Given the description of an element on the screen output the (x, y) to click on. 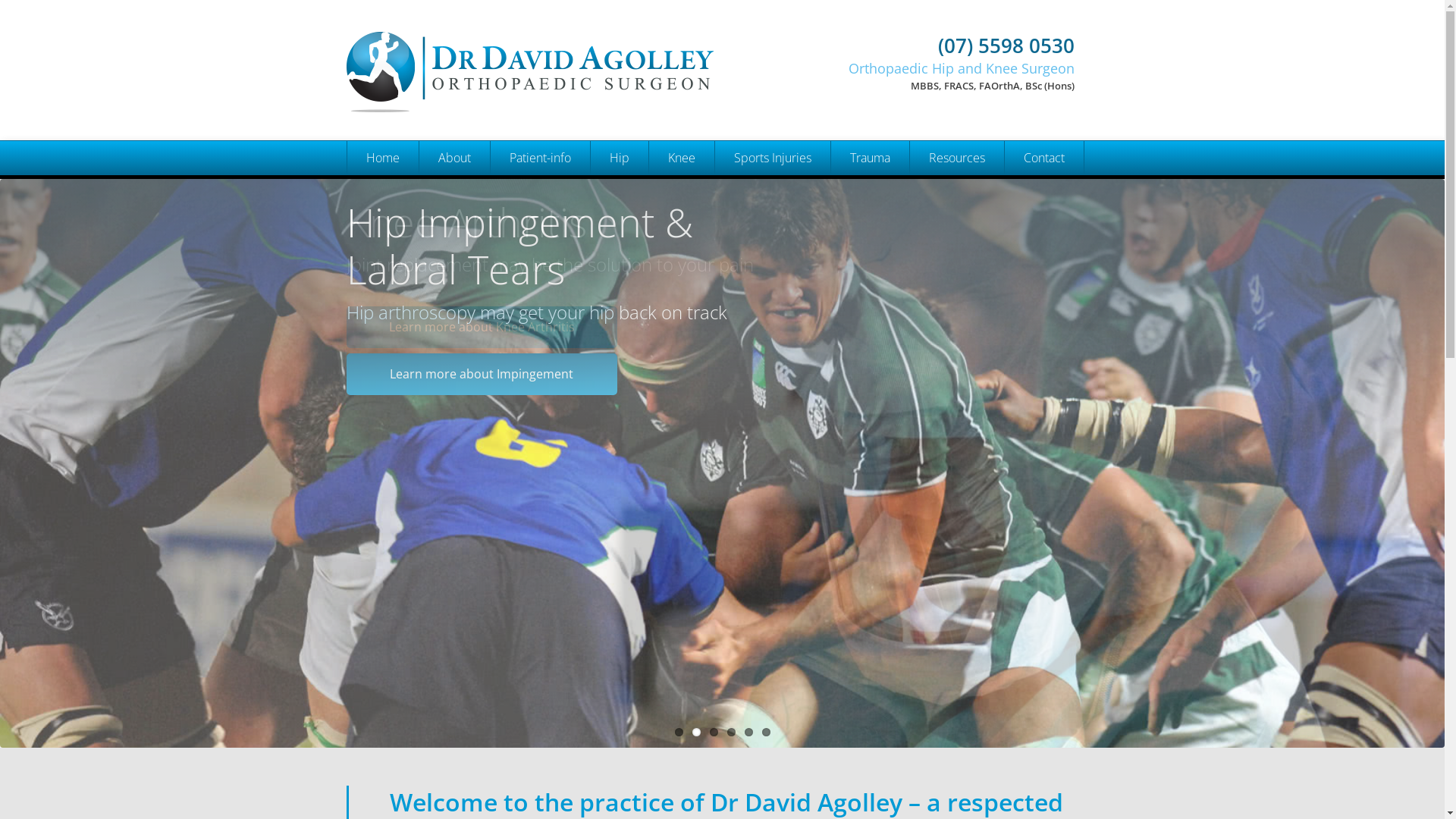
Hip Dysplasia Element type: text (618, 328)
Hip Arthroscopy Element type: text (618, 260)
Visiting from Interstate or Overseas Element type: text (539, 362)
About Element type: text (453, 158)
Hip Periacetabular Osteotomy (PAO) Element type: text (618, 362)
Appointments Element type: text (539, 260)
Knee Meniscal Tear Element type: text (772, 362)
Presentations Element type: text (955, 226)
Videos Element type: text (955, 260)
Hip Ligamentum Teres Tear Element type: text (772, 260)
Knee ACL Reconstruction Element type: text (680, 294)
3 Element type: text (713, 732)
Knee Replacement Element type: text (680, 226)
(07) 5598 0530 Element type: text (928, 45)
Knee Arthroscopy Element type: text (680, 260)
Upper Limb Element type: text (868, 192)
Knee Osteotomy and Realignment Element type: text (680, 362)
Contact Element type: text (1043, 158)
Knee Patella Dislocation Element type: text (772, 396)
Hip Hamstring Tear Element type: text (772, 294)
Knee ACL Injury Element type: text (772, 328)
Hip Replacement Element type: text (618, 226)
Skip to main content Element type: text (59, 0)
Sports Injuries Element type: text (772, 158)
Lower Limb Element type: text (868, 226)
Dr Andrew Clarke Element type: text (453, 226)
Hip Element type: text (618, 158)
New Patient Registration Element type: text (539, 294)
Learn more about Impingement Element type: text (480, 374)
Hip Pain Element type: text (618, 396)
Knee Preservation Surgery Element type: text (680, 192)
Knee Cartilage Regeneration Element type: text (680, 431)
Hip Preservation Surgery Element type: text (618, 192)
Useful Links Element type: text (955, 294)
Narelle Hammond Element type: text (453, 294)
Knee Element type: text (680, 158)
Administrative Staff Element type: text (453, 328)
Acute Hip and Knee Sports Injury Clinic Element type: text (772, 192)
Appointment Request Element type: text (539, 328)
2 Element type: text (695, 732)
Home Element type: text (381, 158)
Trauma Element type: text (868, 158)
FAQ Element type: text (539, 192)
5 Element type: text (748, 732)
Planning for surgery Element type: text (539, 396)
Health Professionals Element type: text (955, 192)
Hip Anterior Approach Element type: text (618, 431)
Hip Impingement and labral tears Element type: text (618, 294)
6 Element type: text (765, 732)
1 Element type: text (678, 732)
4 Element type: text (730, 732)
Dr David Agolley Element type: text (453, 192)
Knee Patella Dislocation Element type: text (680, 396)
Health Professionals Element type: text (453, 362)
Resources Element type: text (955, 158)
Patient-info Element type: text (539, 158)
Hip Labral Tear Element type: text (772, 226)
Dr Craig Fraser Element type: text (453, 260)
Knee Meniscal Tear Element type: text (680, 328)
Services Element type: text (539, 226)
